Given the description of an element on the screen output the (x, y) to click on. 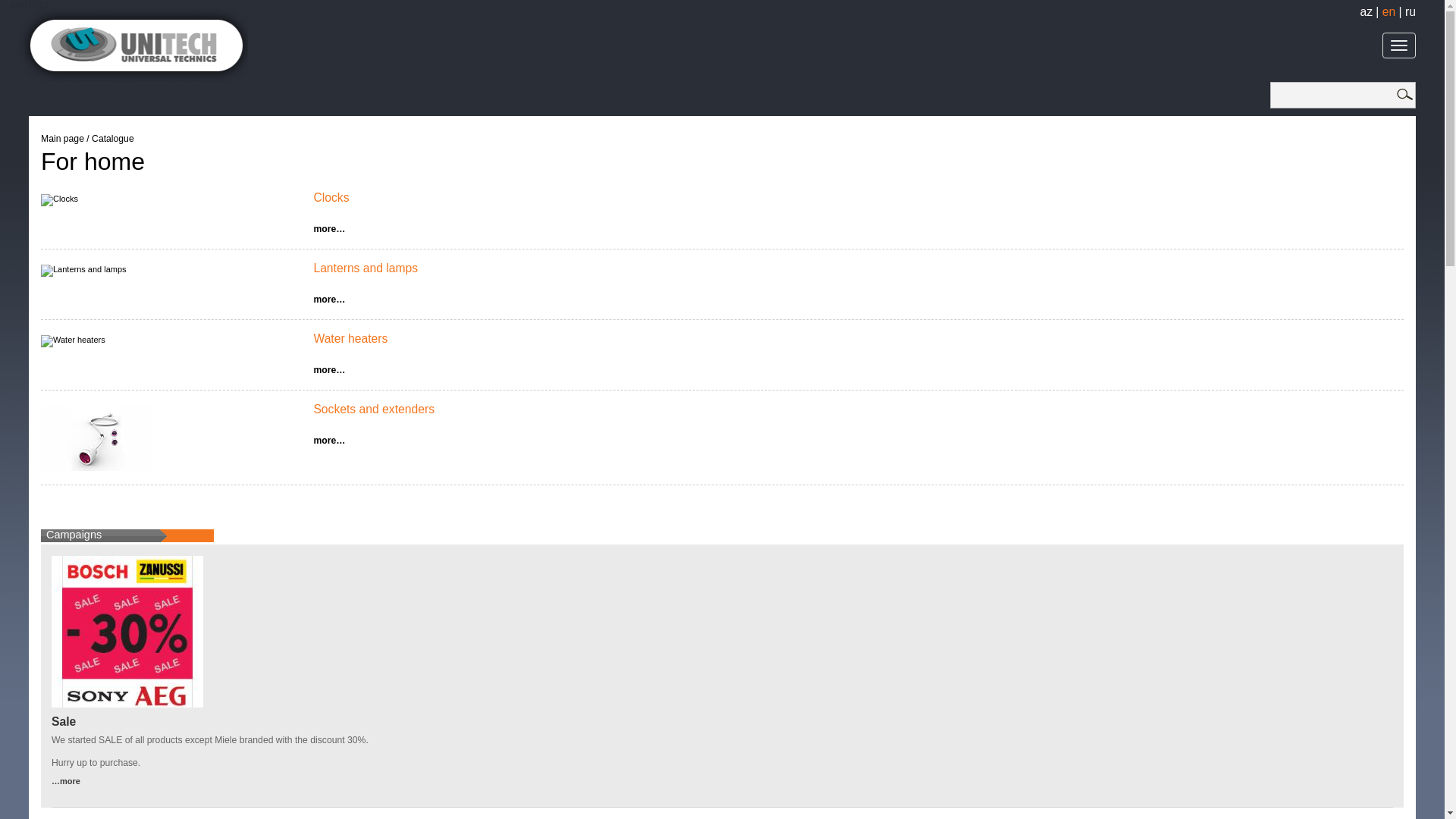
Catalogue Element type: text (112, 138)
Clocks Element type: text (330, 197)
az Element type: text (1365, 11)
Lanterns and lamps Element type: text (365, 267)
Main page Element type: text (62, 138)
ru Element type: text (1410, 11)
Water heaters Element type: text (350, 338)
  Element type: text (1404, 94)
Sale Element type: text (63, 721)
UNITECH Element type: text (129, 5)
Sockets and extenders Element type: text (373, 408)
